Given the description of an element on the screen output the (x, y) to click on. 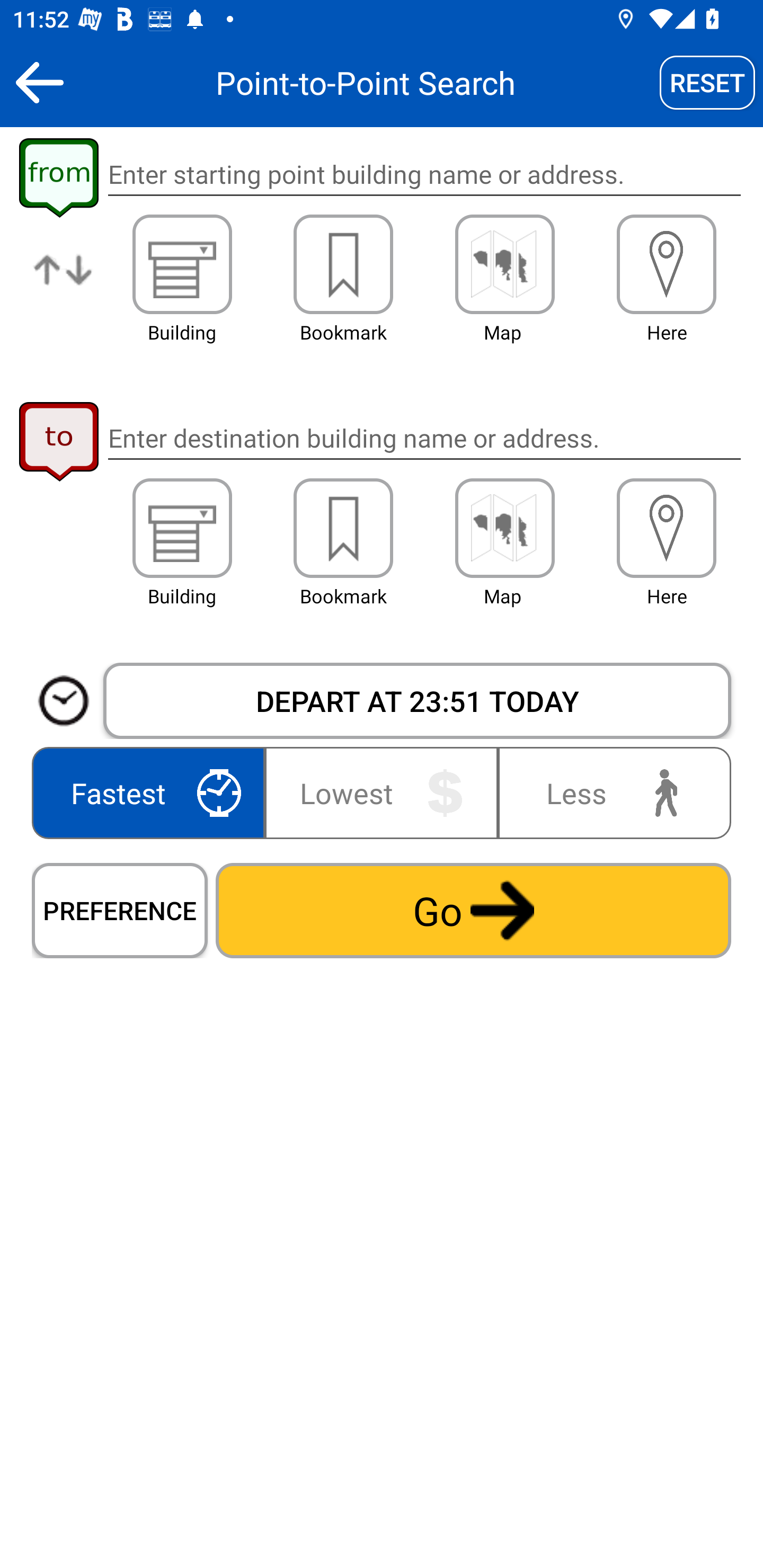
Back (39, 82)
RESET Reset (707, 81)
Enter starting point building name or address. (423, 174)
Building (181, 263)
Bookmarks (342, 263)
Select location on map (504, 263)
Here (666, 263)
Swap origin and destination (63, 284)
Enter destination building name or address. (423, 437)
Building (181, 528)
Bookmarks (342, 528)
Select location on map (504, 528)
Here (666, 528)
Lowest (381, 792)
Fastest selected (151, 792)
Less (610, 792)
PREFERENCE Preference (119, 910)
Go (472, 910)
